Given the description of an element on the screen output the (x, y) to click on. 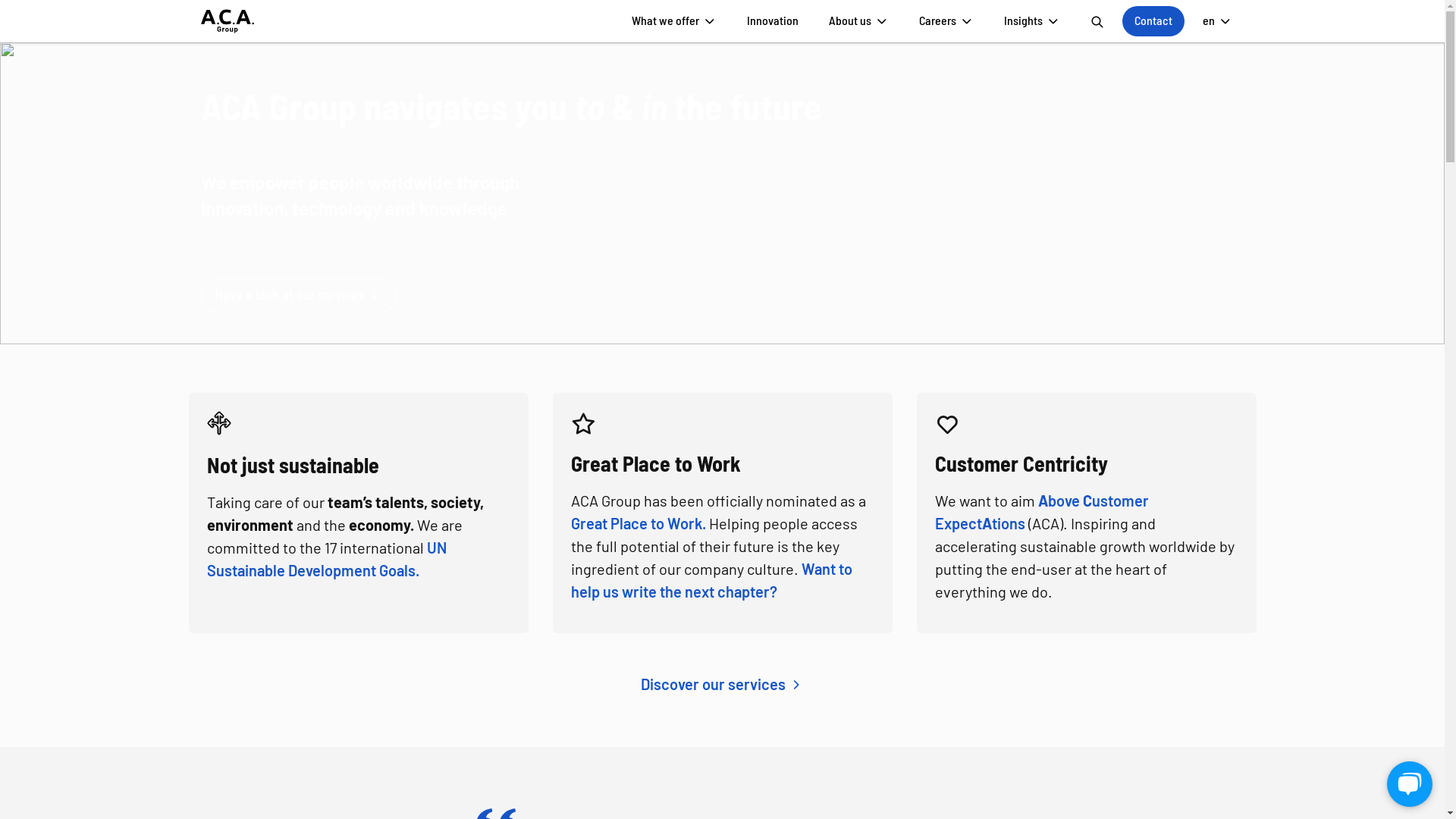
en Element type: text (1217, 21)
About us Element type: text (857, 21)
Contact Element type: text (1153, 21)
Have a look at our services Element type: text (297, 295)
Great Place to Work. Element type: text (637, 523)
Discover our services Element type: text (721, 683)
Above Customer ExpectAtions Element type: text (1041, 511)
UN Sustainable Development Goals. Element type: text (325, 558)
Innovation Element type: text (771, 21)
Want to help us write the next chapter? Element type: text (710, 579)
What we offer Element type: text (673, 21)
Insights Element type: text (1031, 21)
Careers Element type: text (945, 21)
